Given the description of an element on the screen output the (x, y) to click on. 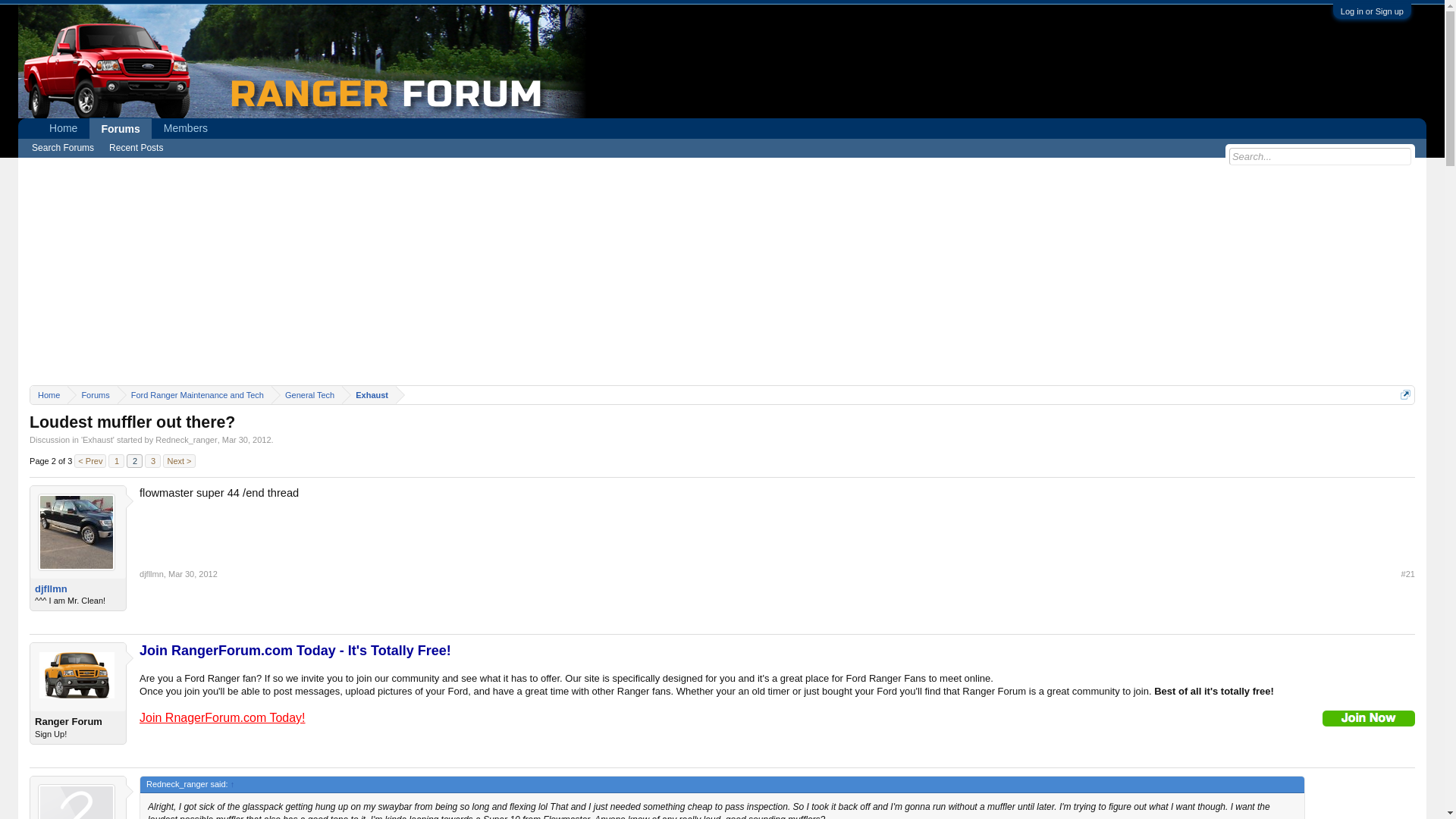
Join RnagerForum.com Today! (221, 717)
Mar 30, 2012 at 12:16 PM (246, 439)
General Tech (306, 394)
Mar 30, 2012 (246, 439)
Permalink (192, 573)
3 (152, 460)
Join RangerForum.com Today - It's Totally Free! (295, 651)
Exhaust (97, 439)
2 (134, 460)
Permalink (1407, 573)
Home (48, 394)
Log in or Sign up (1371, 10)
Open quick navigation (1405, 394)
Mar 30, 2012 (192, 573)
Exhaust (369, 394)
